Given the description of an element on the screen output the (x, y) to click on. 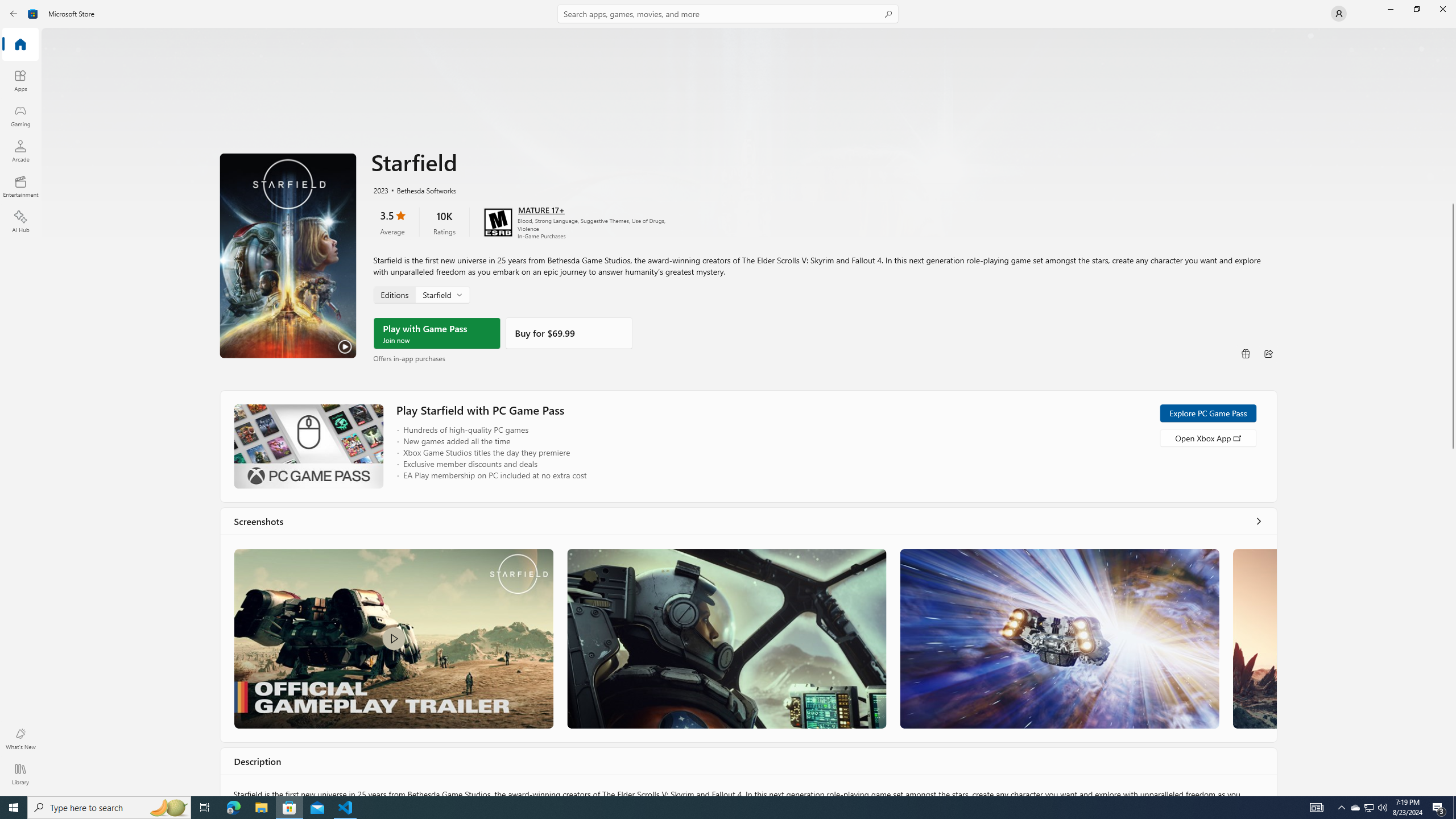
Vertical Large Increase (1452, 618)
Vertical (1452, 412)
3.5 stars. Click to skip to ratings and reviews (392, 221)
Open Xbox App (1207, 437)
Minimize Microsoft Store (1390, 9)
2023 (379, 189)
Screenshot 2 (725, 638)
Vertical Small Increase (1452, 792)
